Given the description of an element on the screen output the (x, y) to click on. 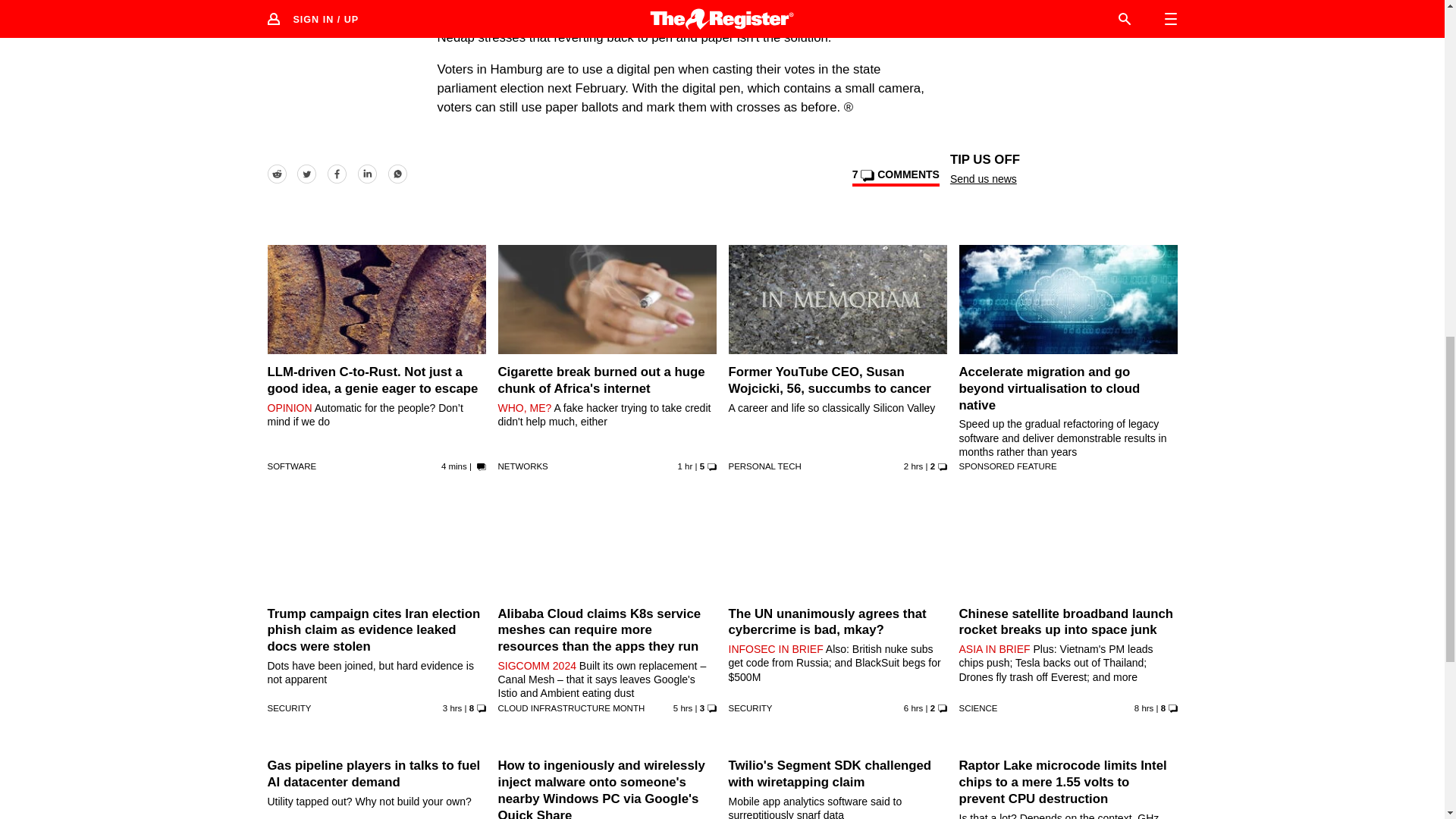
12 Aug 2024 5:34 (452, 707)
12 Aug 2024 1:0 (1144, 707)
12 Aug 2024 4:1 (682, 707)
View comments on this article (895, 177)
12 Aug 2024 6:30 (913, 465)
12 Aug 2024 2:30 (913, 707)
12 Aug 2024 8:33 (454, 465)
12 Aug 2024 7:36 (685, 465)
